Given the description of an element on the screen output the (x, y) to click on. 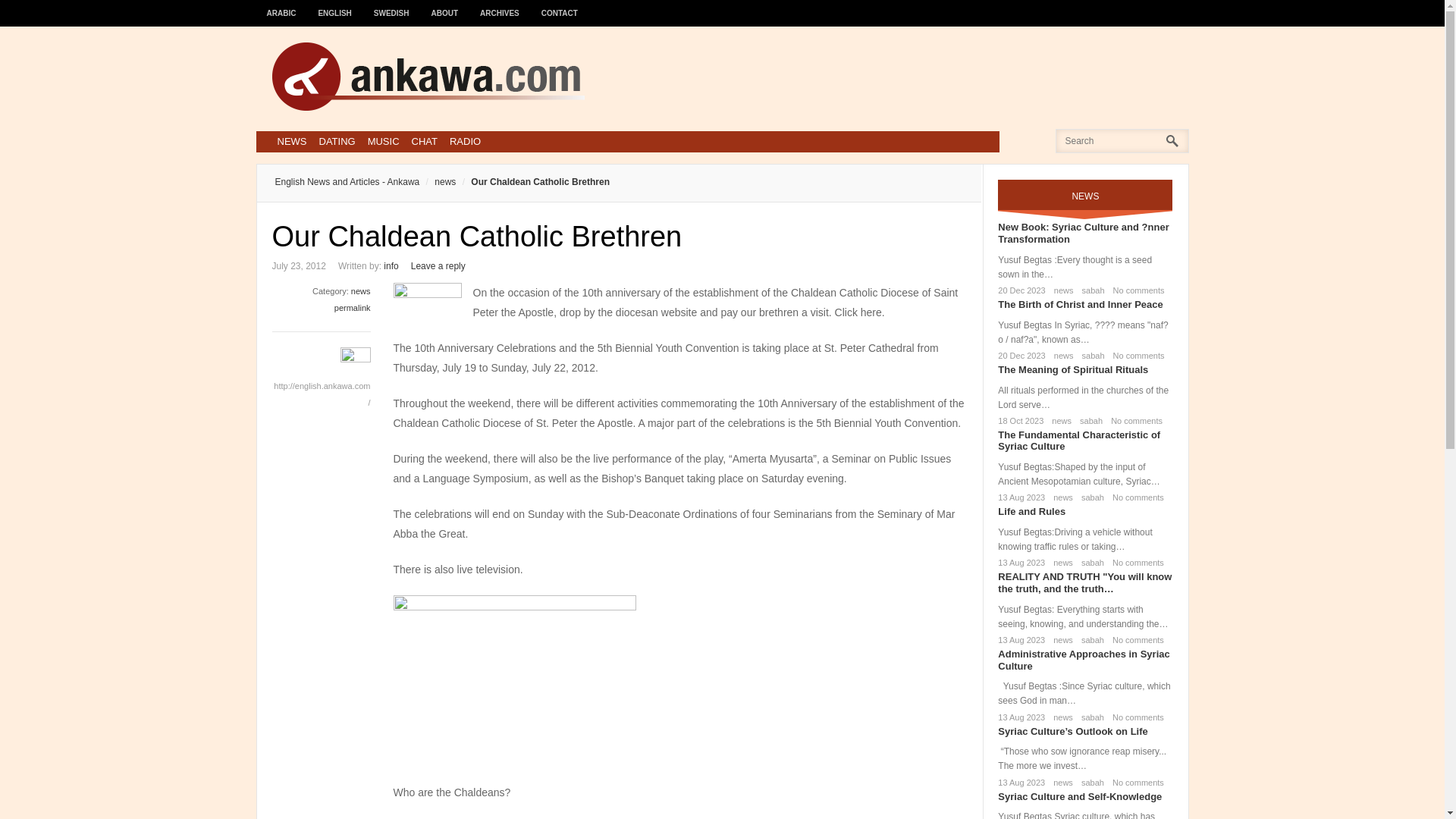
permalink (352, 307)
sabah (1090, 355)
The Birth of Christ and Inner Peace (1079, 304)
ENGLISH (334, 5)
CONTACT (560, 5)
Leave a reply (437, 266)
news (1059, 497)
ABOUT (445, 5)
info (390, 266)
New Book: Syriac Culture and ?nner Transformation (1083, 232)
news (437, 181)
CHAT (425, 141)
No comments (1133, 420)
Search (35, 15)
